Given the description of an element on the screen output the (x, y) to click on. 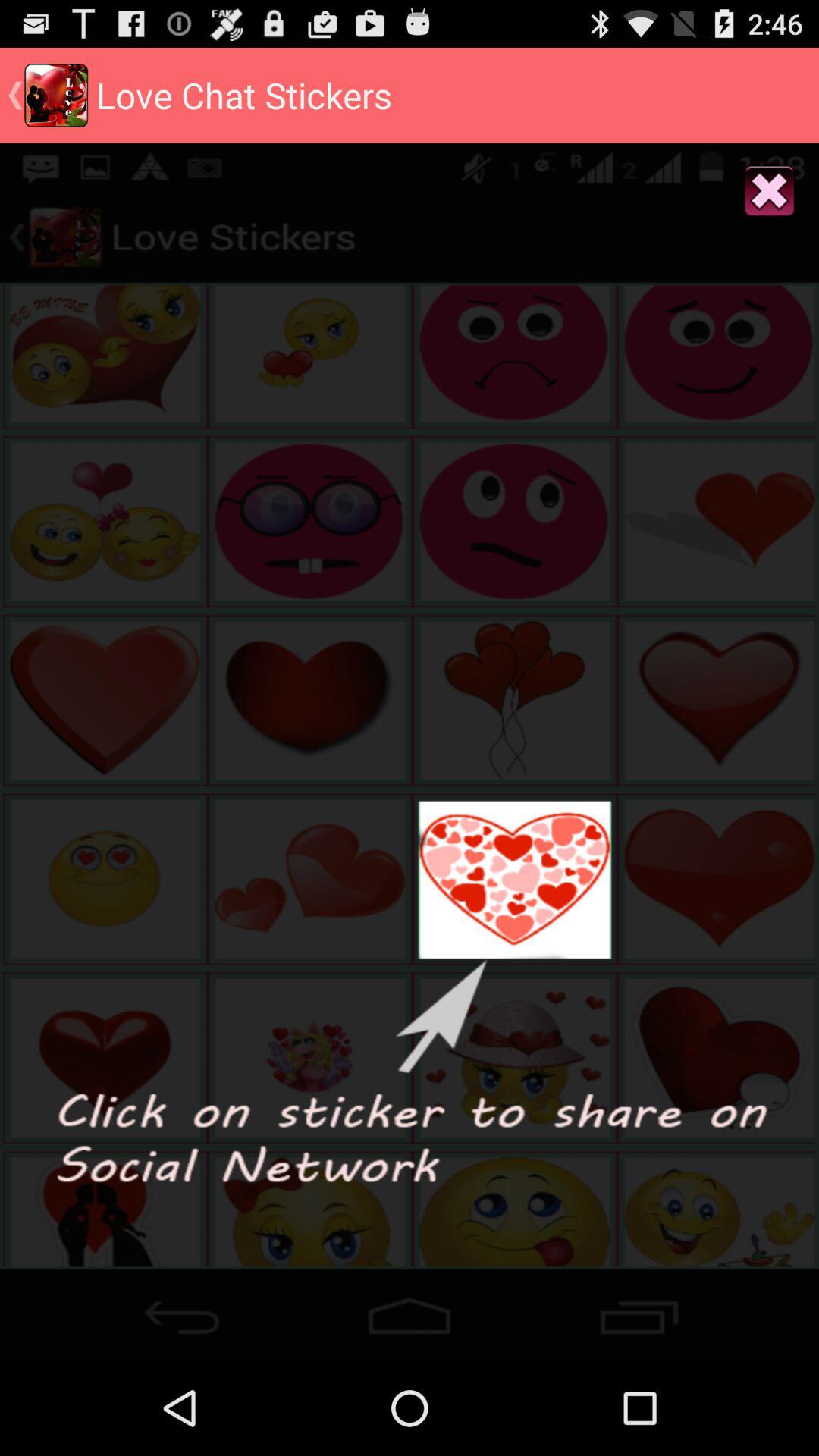
select to tool bar (409, 1310)
